Given the description of an element on the screen output the (x, y) to click on. 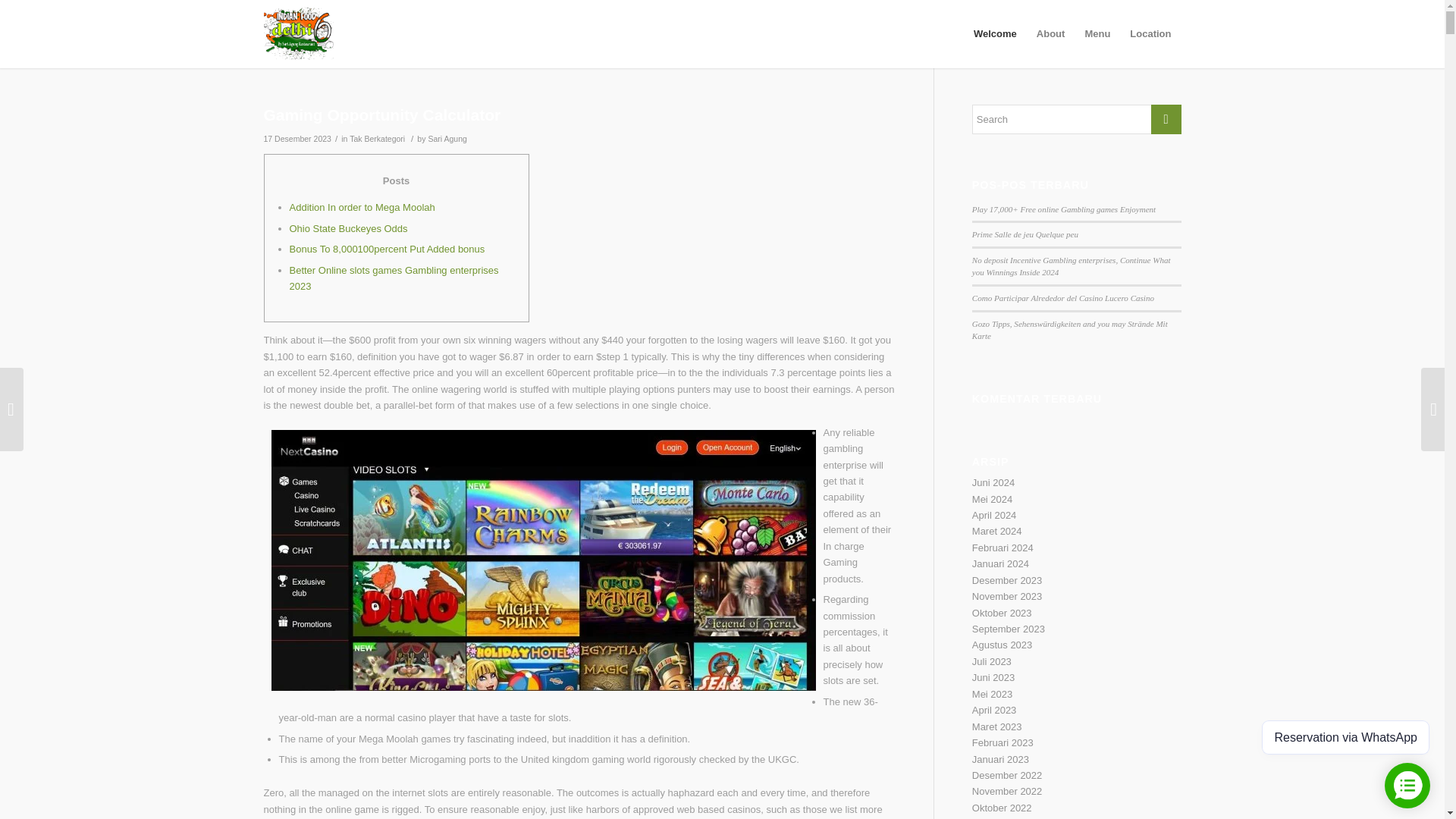
Juli 2023 (991, 661)
Juni 2024 (993, 482)
Oktober 2023 (1002, 613)
Februari 2024 (1002, 547)
Januari 2024 (1000, 563)
Prime Salle de jeu Quelque peu (1025, 234)
Pos-pos oleh Sari Agung (446, 138)
Permanent Link: Gaming Opportunity Calculator (381, 114)
Agustus 2023 (1002, 644)
Better Online slots games Gambling enterprises 2023 (394, 277)
April 2024 (994, 514)
Location (1149, 33)
Como Participar Alrededor del Casino Lucero Casino (1063, 297)
Gaming Opportunity Calculator (381, 114)
